Given the description of an element on the screen output the (x, y) to click on. 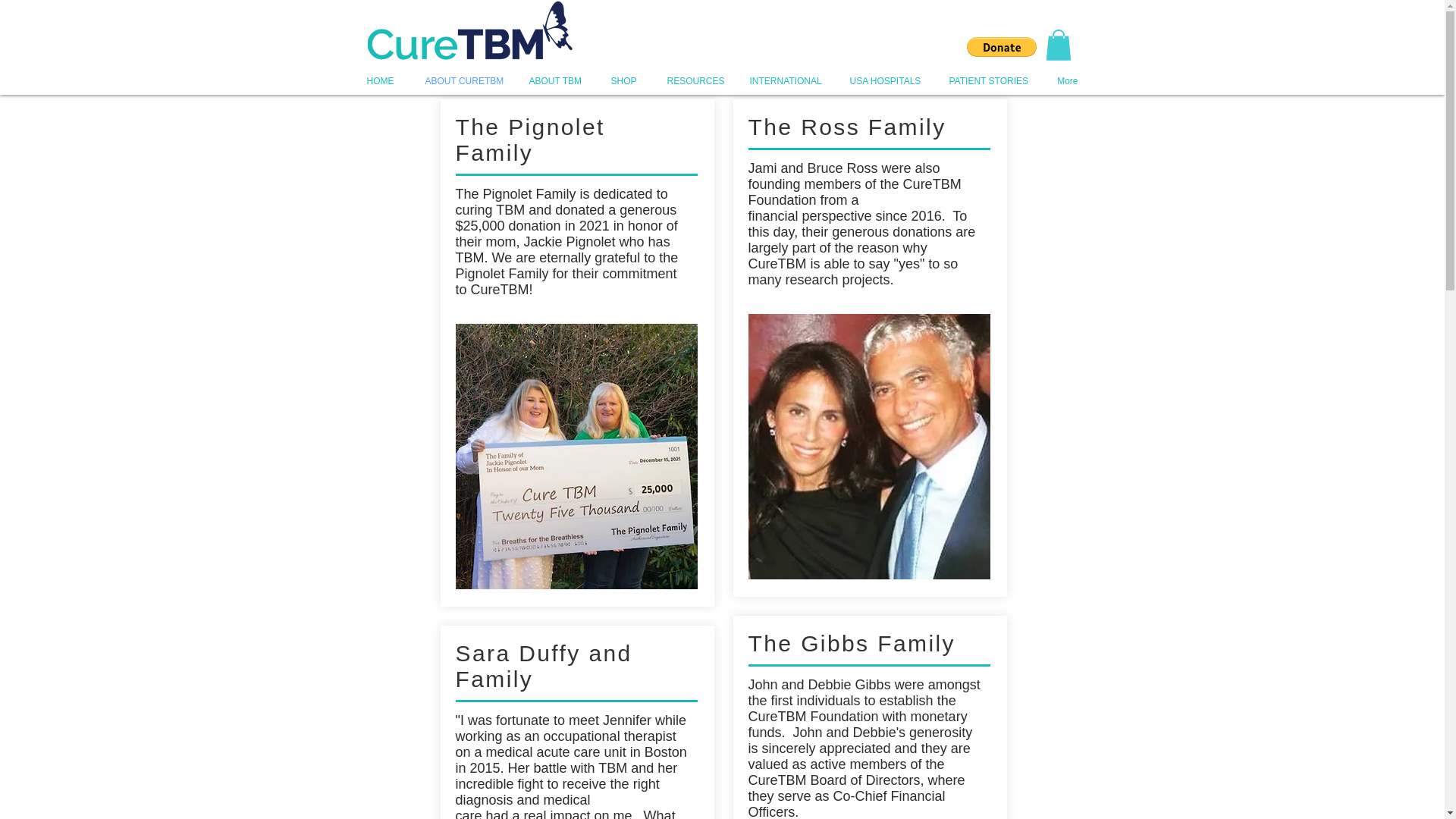
PATIENT STORIES (987, 81)
ABOUT CURETBM (461, 81)
ABOUT TBM (553, 81)
RESOURCES (691, 81)
USA HOSPITALS (883, 81)
SHOP (622, 81)
INTERNATIONAL (783, 81)
HOME (379, 81)
